Given the description of an element on the screen output the (x, y) to click on. 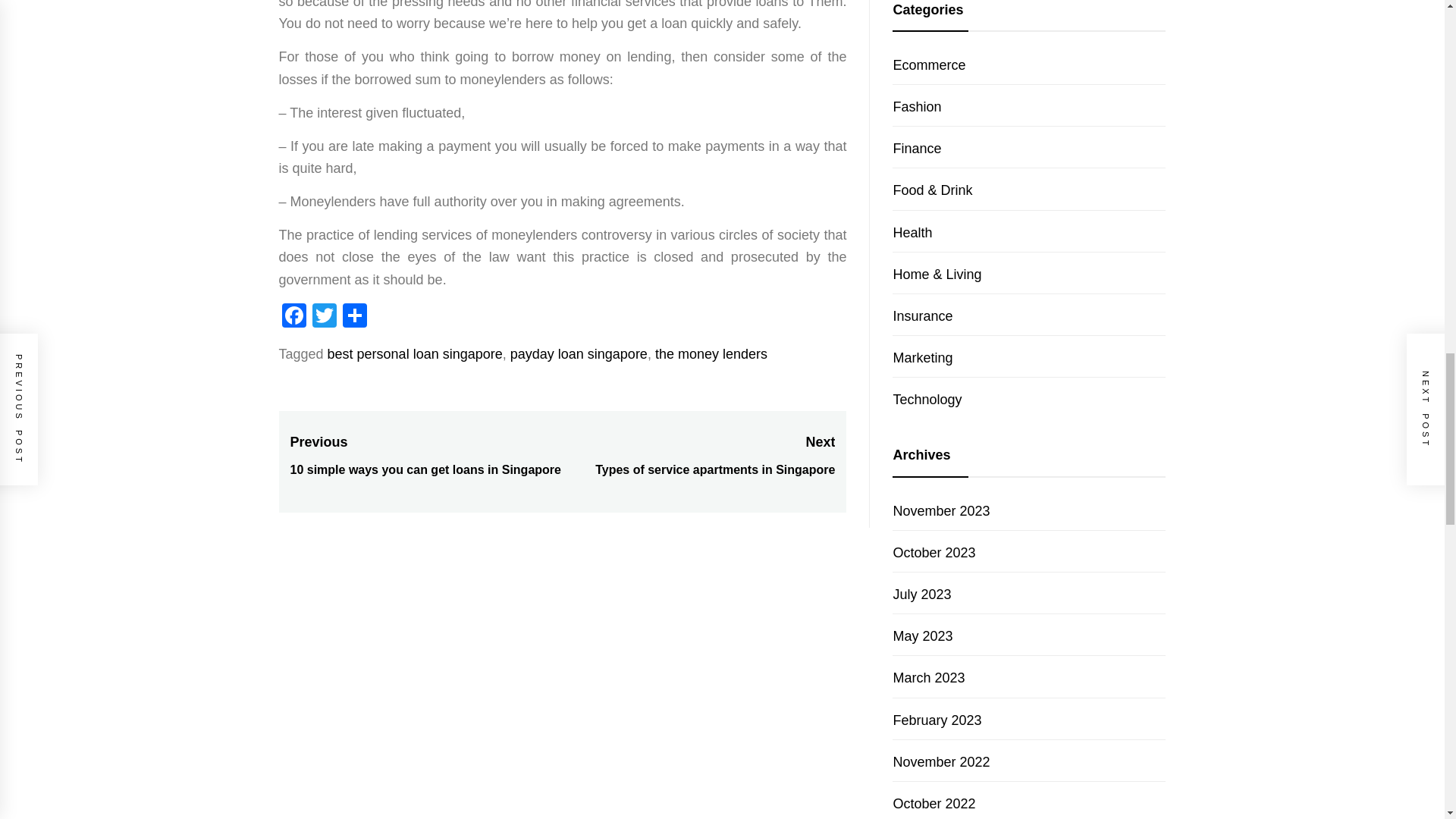
payday loan singapore (579, 353)
Twitter (323, 317)
Facebook (293, 317)
best personal loan singapore (414, 353)
Ecommerce (698, 456)
Facebook (928, 64)
Finance (293, 317)
the money lenders (916, 148)
Fashion (711, 353)
Twitter (916, 106)
